Given the description of an element on the screen output the (x, y) to click on. 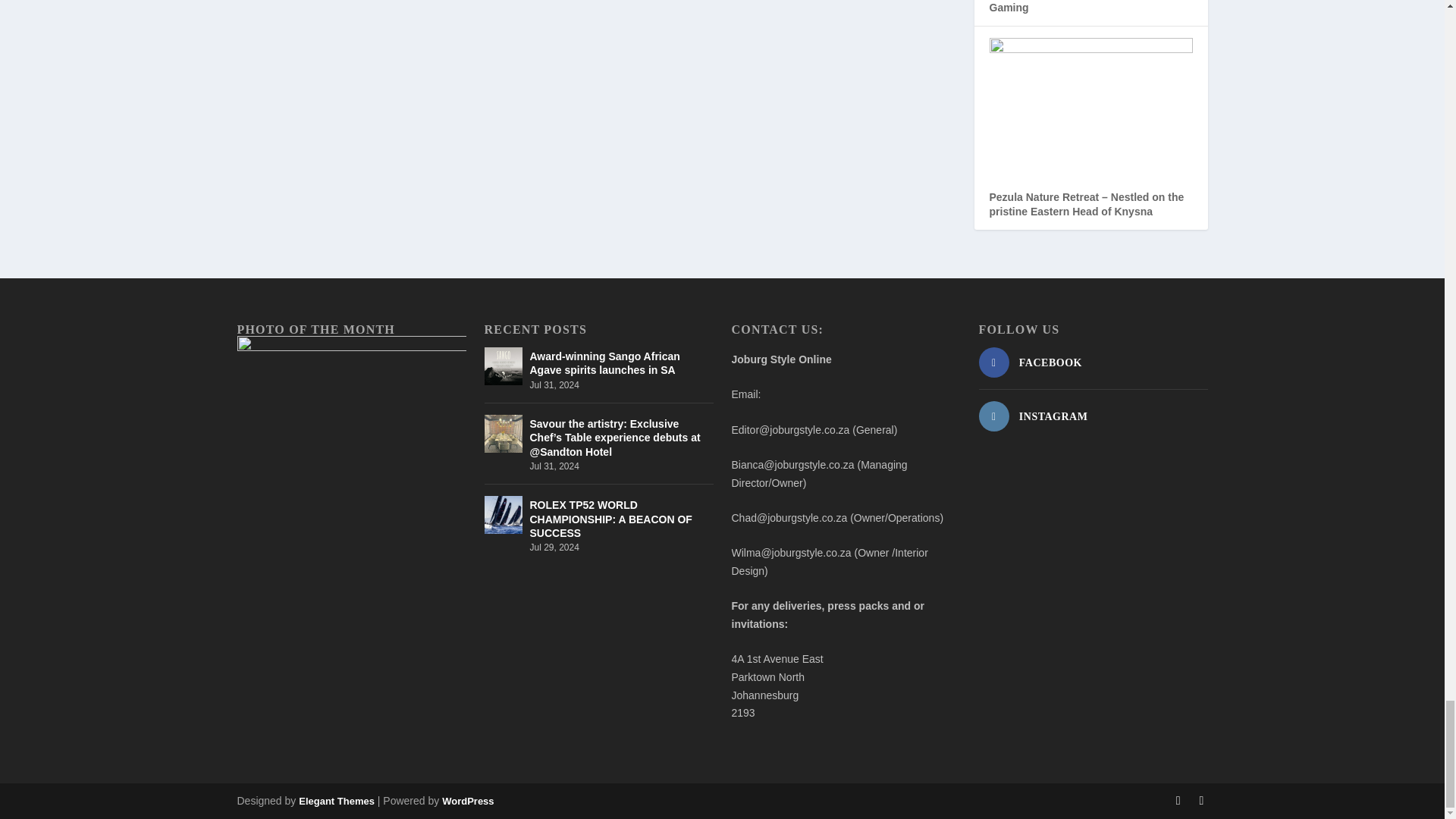
Photo of the Week (350, 410)
